Given the description of an element on the screen output the (x, y) to click on. 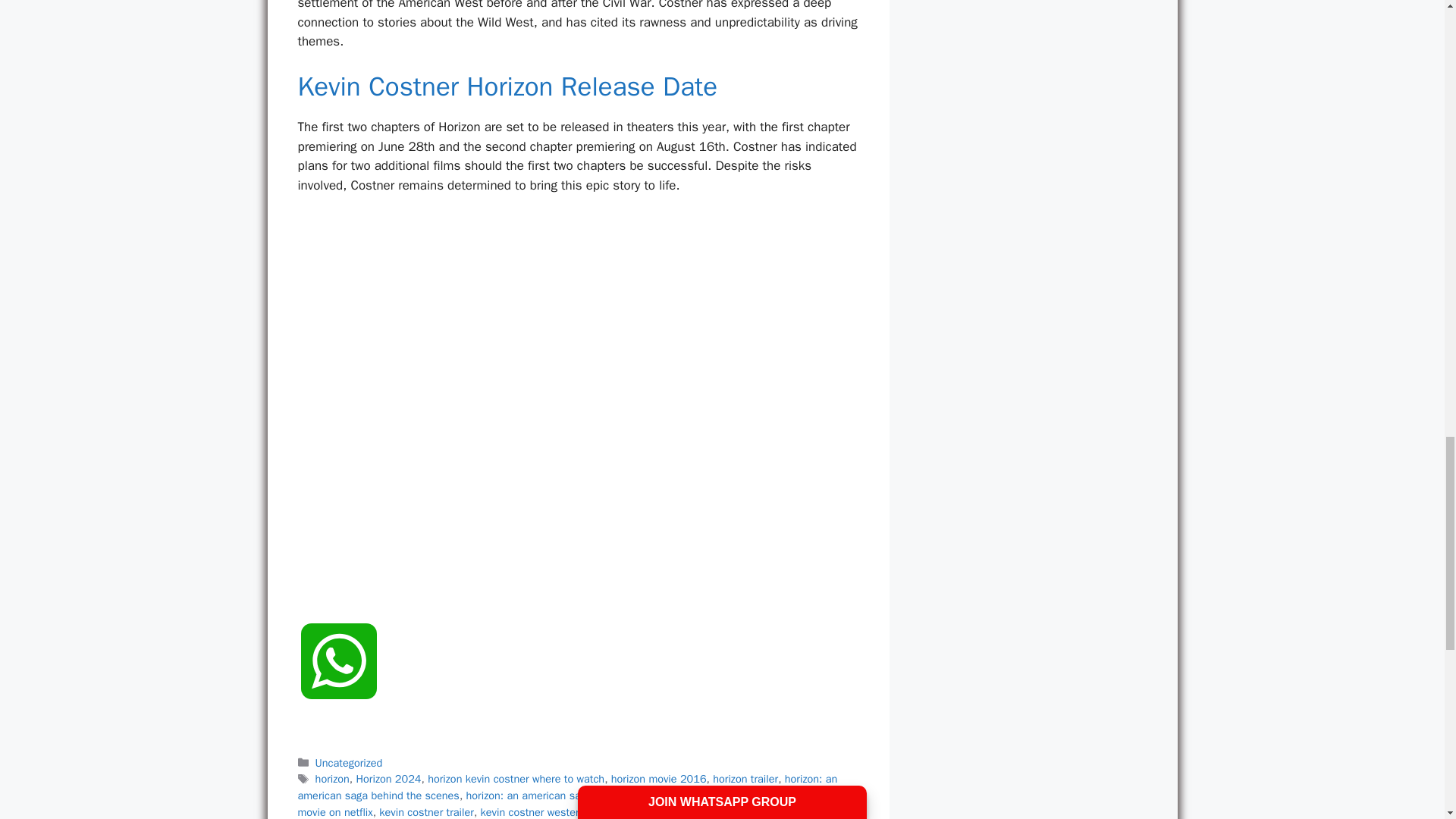
horizon: an american saga netflix (544, 795)
horizon: an american saga behind the scenes (567, 787)
horizon (332, 778)
horizon movie 2016 (658, 778)
Horizon 2024 (389, 778)
kevin costner new movie on netflix (577, 803)
Kevin Costner Horizon 2024 (697, 795)
horizon kevin costner where to watch (516, 778)
Uncategorized (348, 762)
Kevin Costner Horizon Release Date (507, 86)
kevin costner trailer (426, 812)
WhatsApp (337, 678)
horizon trailer (745, 778)
WhatsApp (337, 678)
